Given the description of an element on the screen output the (x, y) to click on. 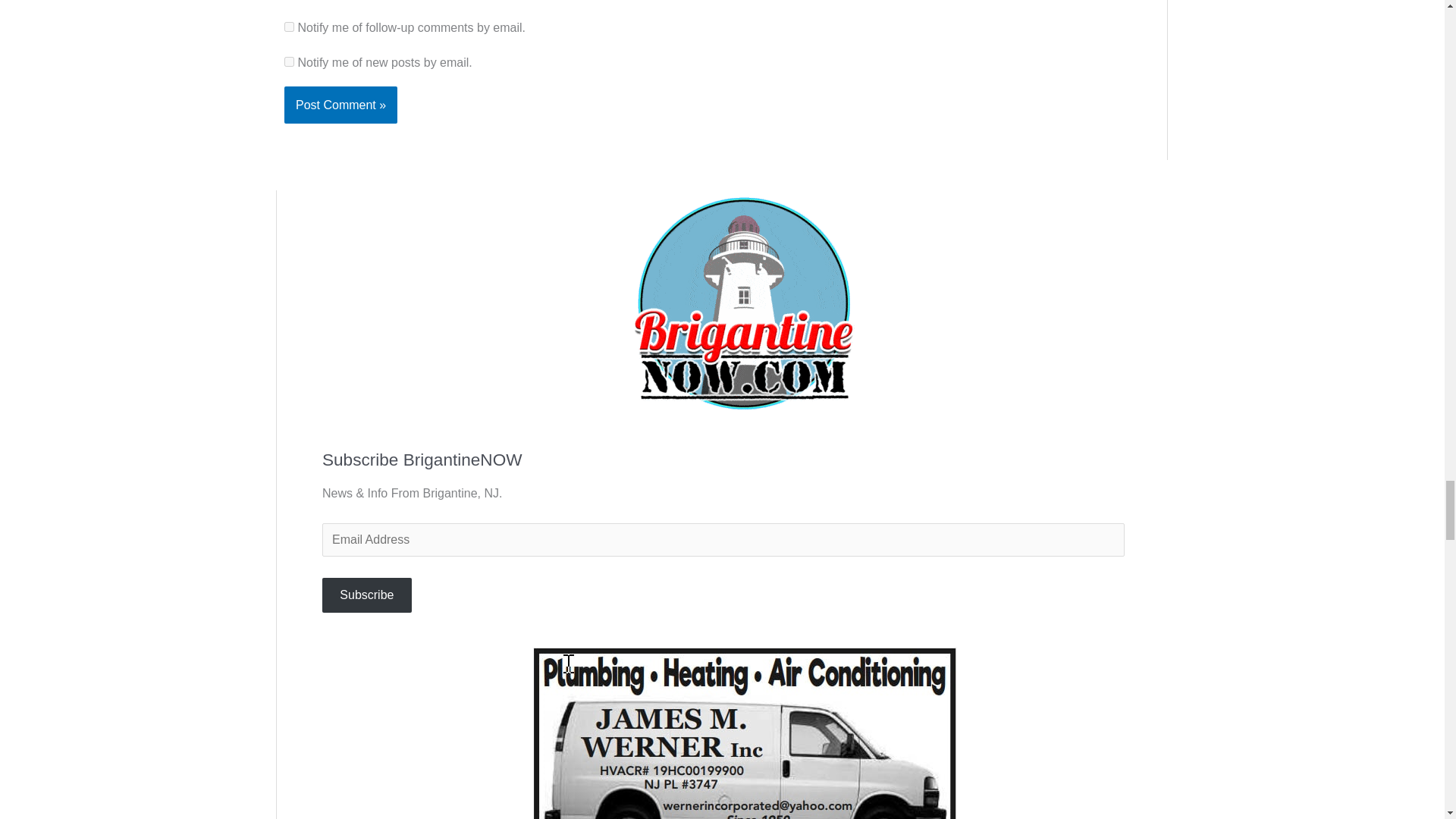
subscribe (288, 61)
subscribe (288, 26)
